Given the description of an element on the screen output the (x, y) to click on. 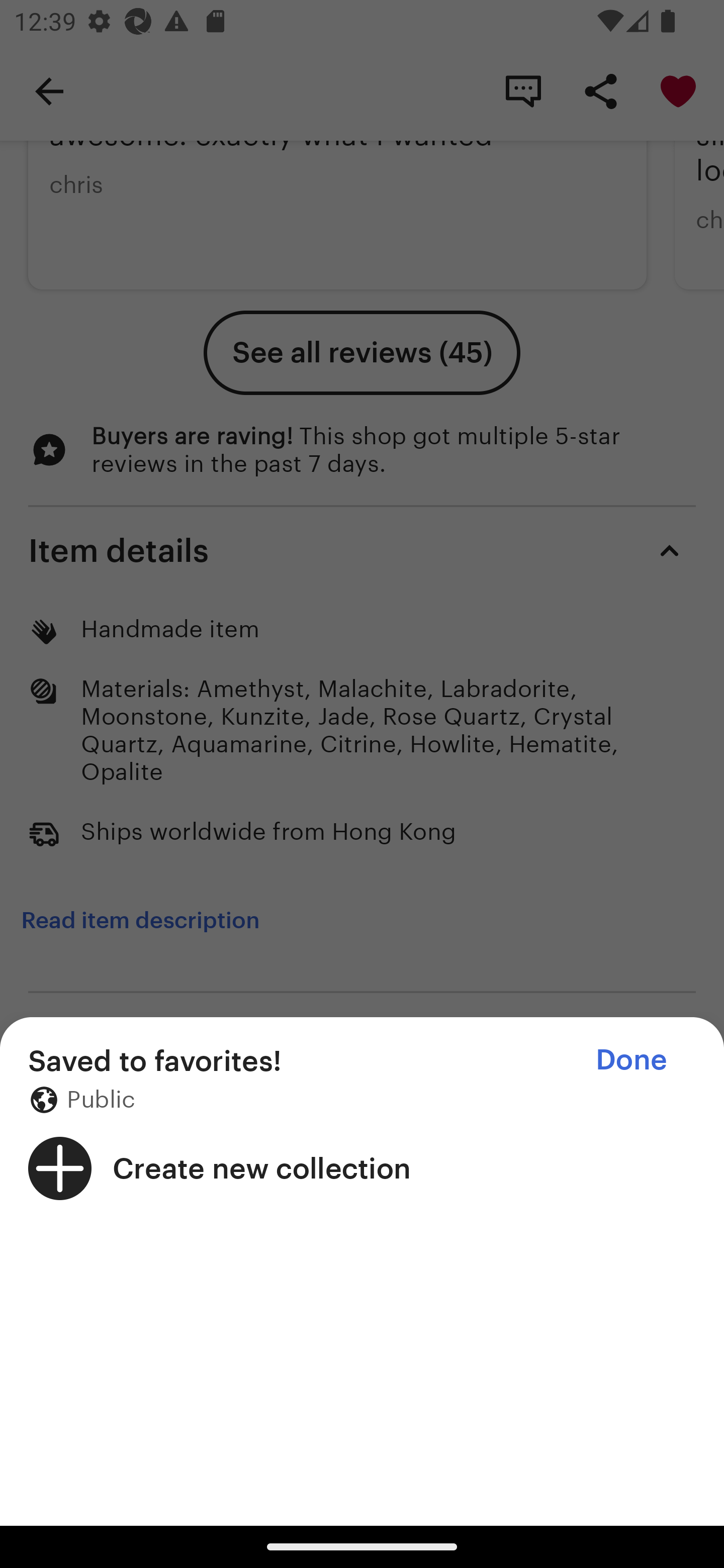
Done (630, 1059)
Create new collection (361, 1167)
